Given the description of an element on the screen output the (x, y) to click on. 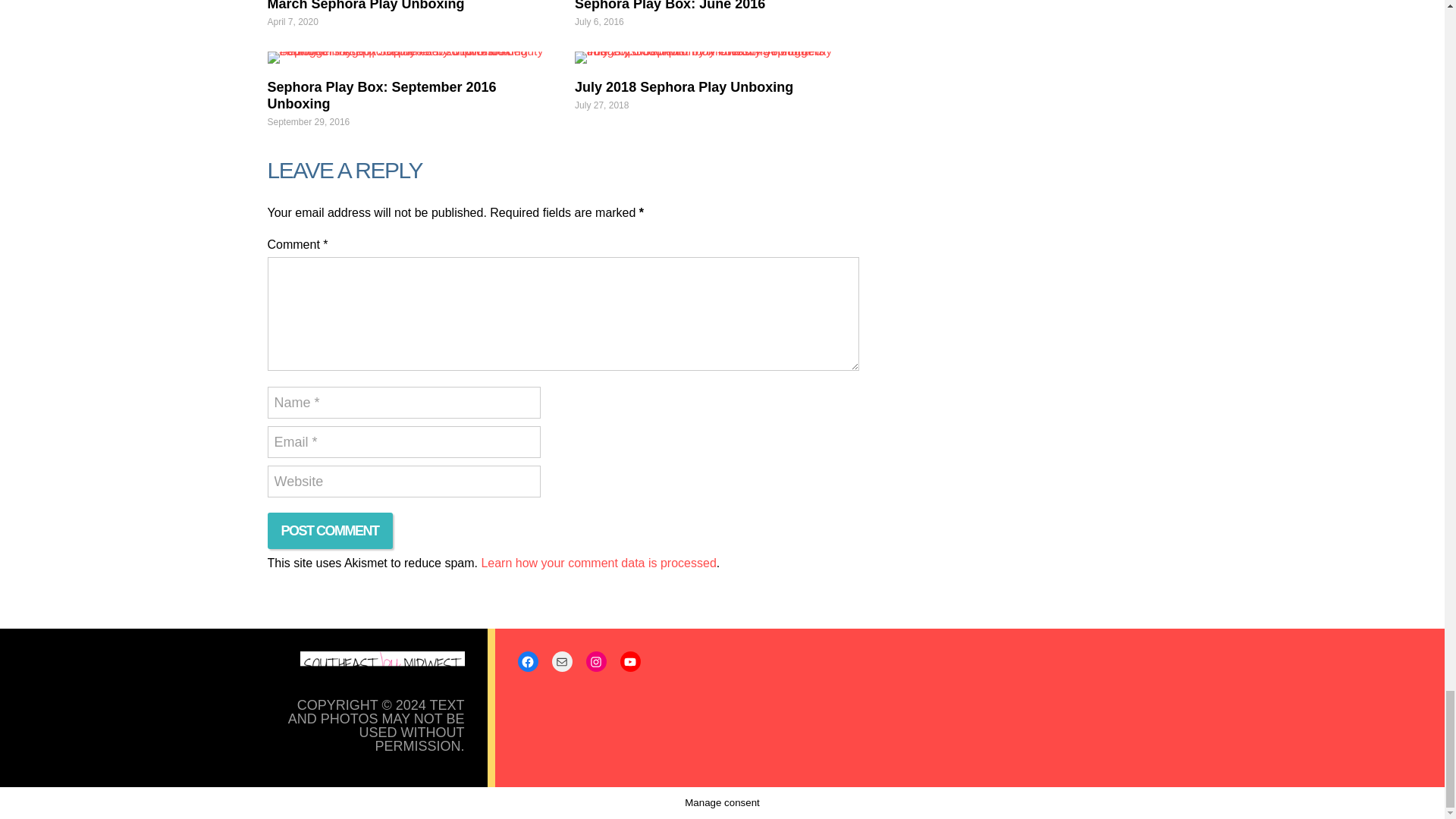
Sephora Play Box: September 2016 Unboxing (381, 95)
Sephora Play Box: September 2016 Unboxing (408, 57)
Sephora Play Box: June 2016 (670, 5)
March Sephora Play Unboxing (365, 5)
Post Comment (328, 530)
